Given the description of an element on the screen output the (x, y) to click on. 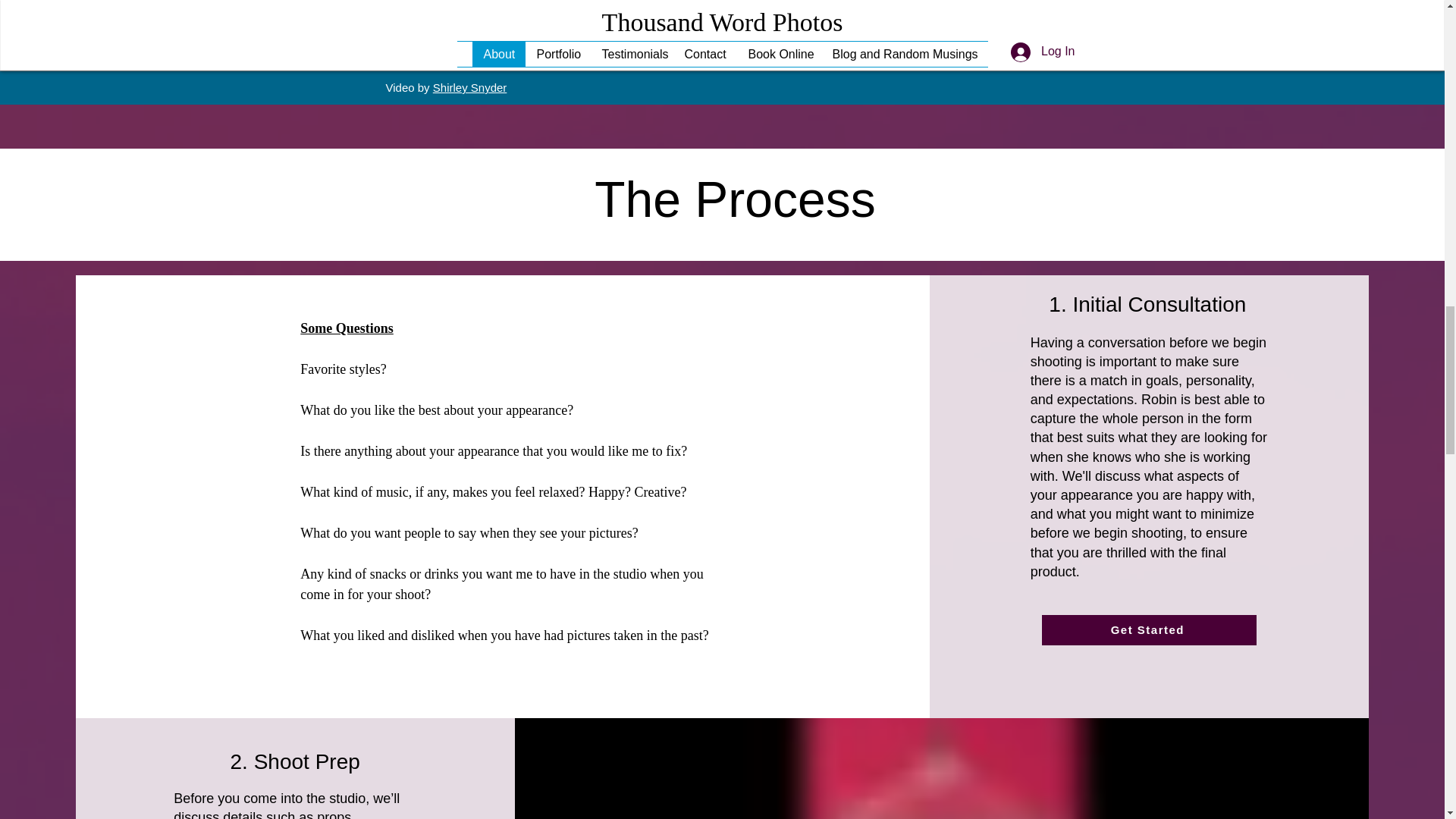
Get Started (1149, 630)
Shirley Snyder (469, 87)
